Given the description of an element on the screen output the (x, y) to click on. 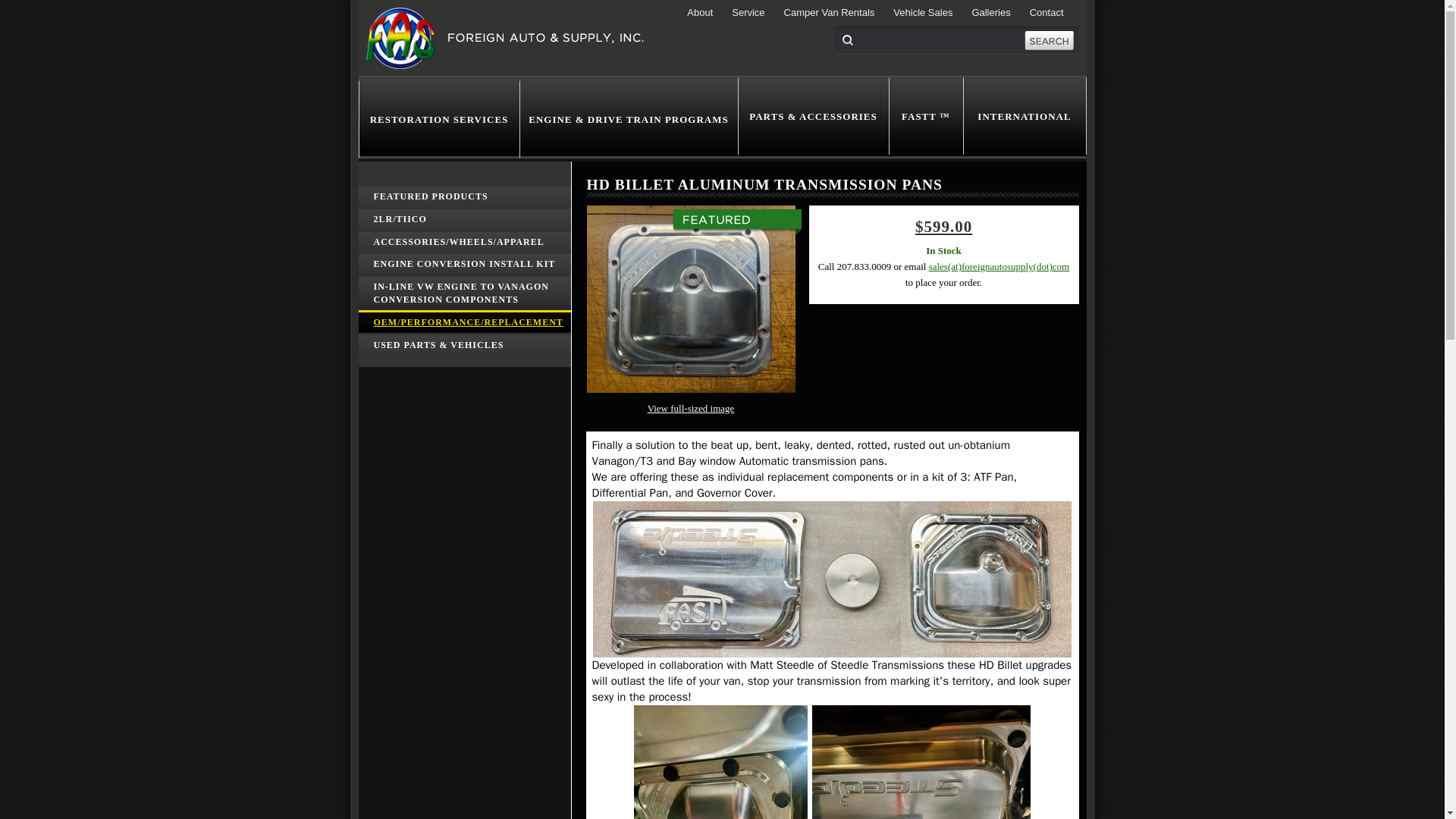
Search (1048, 40)
View full-sized image (691, 408)
Galleries (990, 12)
Contact (1046, 12)
INTERNATIONAL (1024, 115)
HD Billet Aluminum Transmission Pans (691, 408)
IN-LINE VW ENGINE TO VANAGON CONVERSION COMPONENTS (464, 292)
ENGINE CONVERSION INSTALL KIT (464, 262)
About (699, 12)
RESTORATION SERVICES (438, 118)
Camper Van Rentals (829, 12)
Search (1048, 40)
FEATURED PRODUCTS (464, 195)
Vehicle Sales (922, 12)
HD Billet Aluminum Transmission Pans (690, 299)
